Given the description of an element on the screen output the (x, y) to click on. 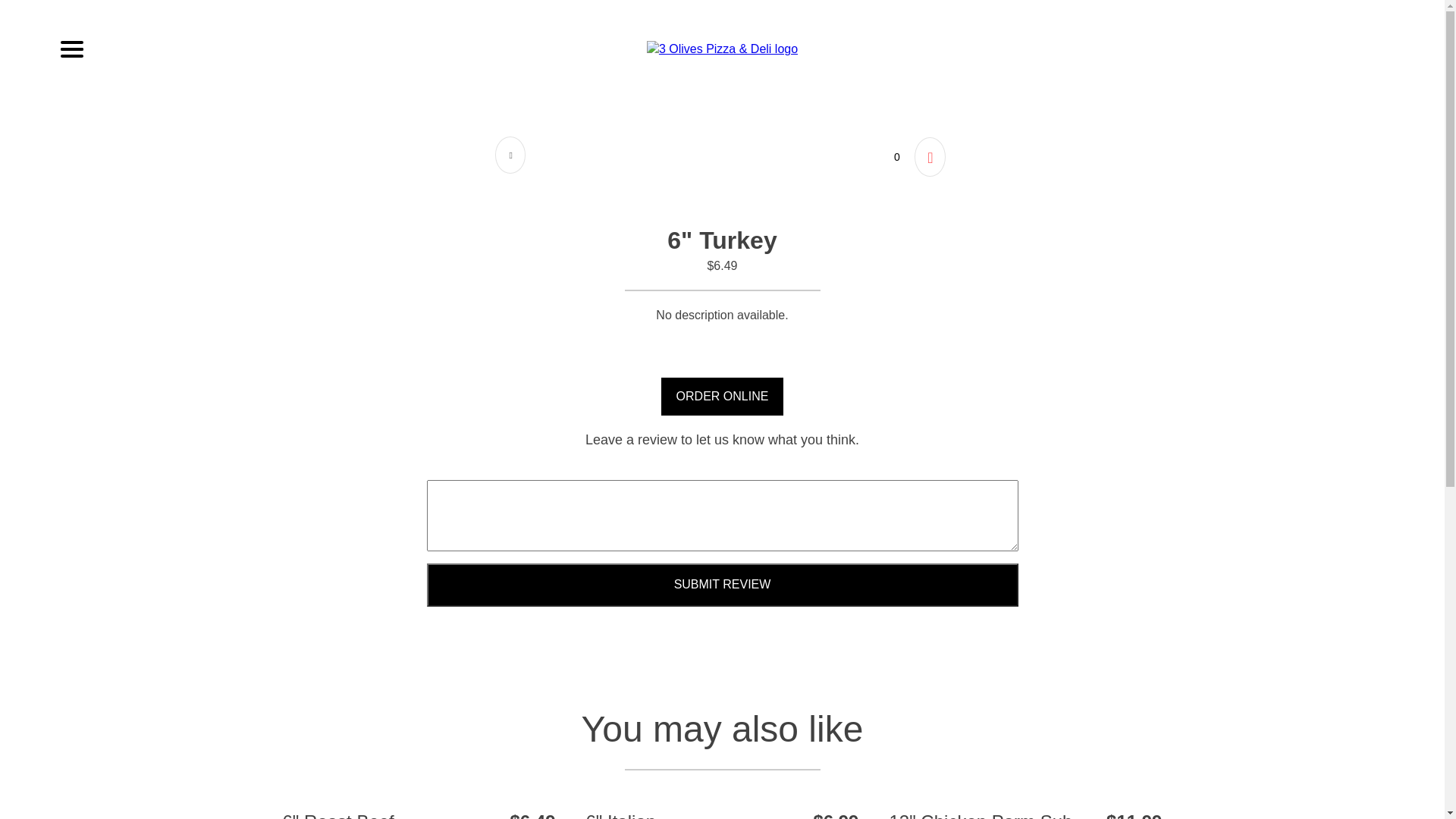
ORDER ONLINE Element type: text (722, 396)
SUBMIT REVIEW Element type: text (721, 584)
